Given the description of an element on the screen output the (x, y) to click on. 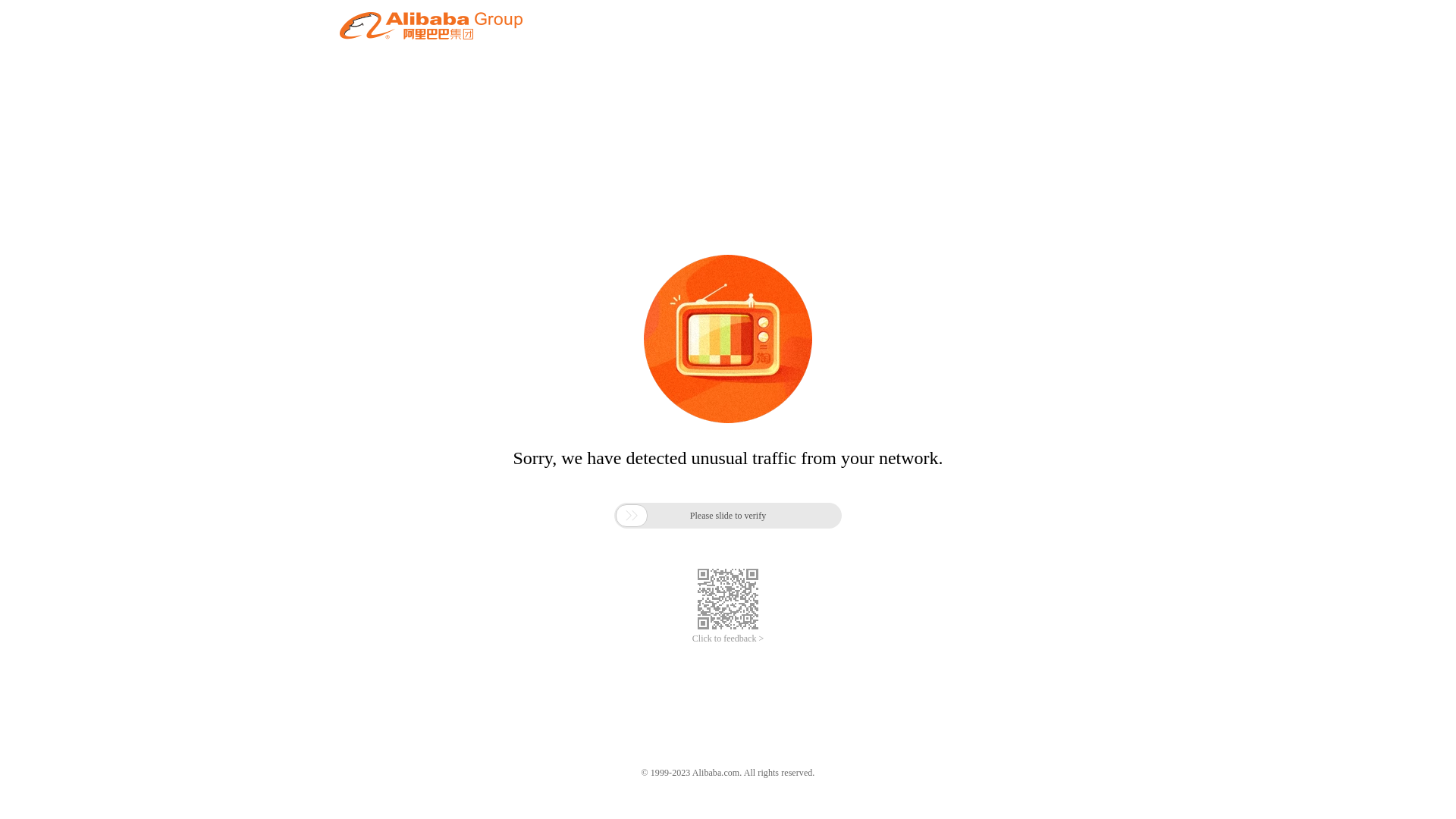
Click to feedback > Element type: text (727, 638)
